Given the description of an element on the screen output the (x, y) to click on. 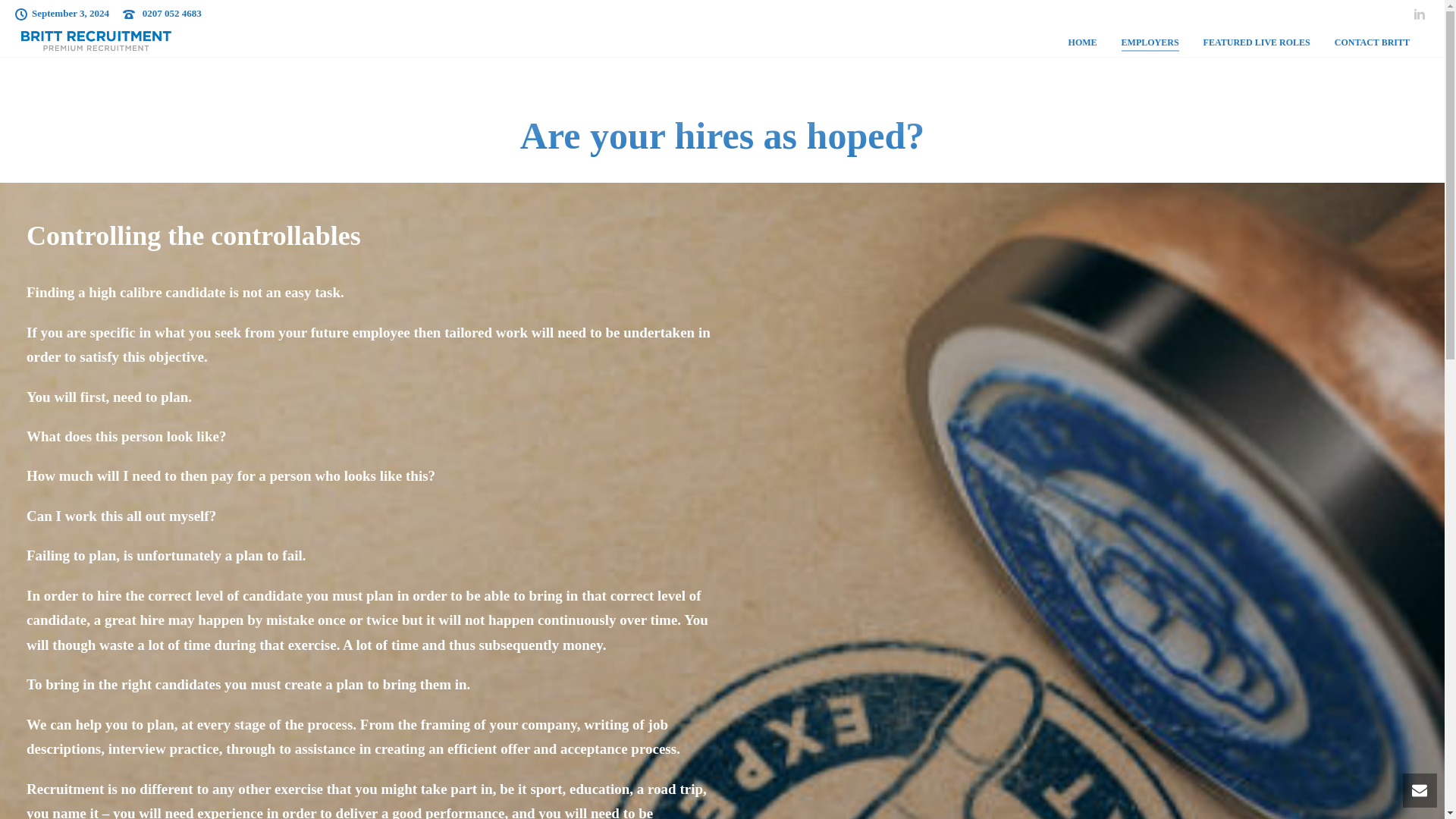
HOME (1083, 42)
FEATURED LIVE ROLES (1256, 42)
0207 052 4683 (172, 12)
www.brittrecruitment.com (1060, 690)
Some Example Work (88, 708)
CONTACT BRITT (1372, 42)
EMPLOYERS (1150, 42)
Specialist Built Environment Recruiter (95, 41)
Candidates (66, 623)
Contact Britt (71, 644)
